Given the description of an element on the screen output the (x, y) to click on. 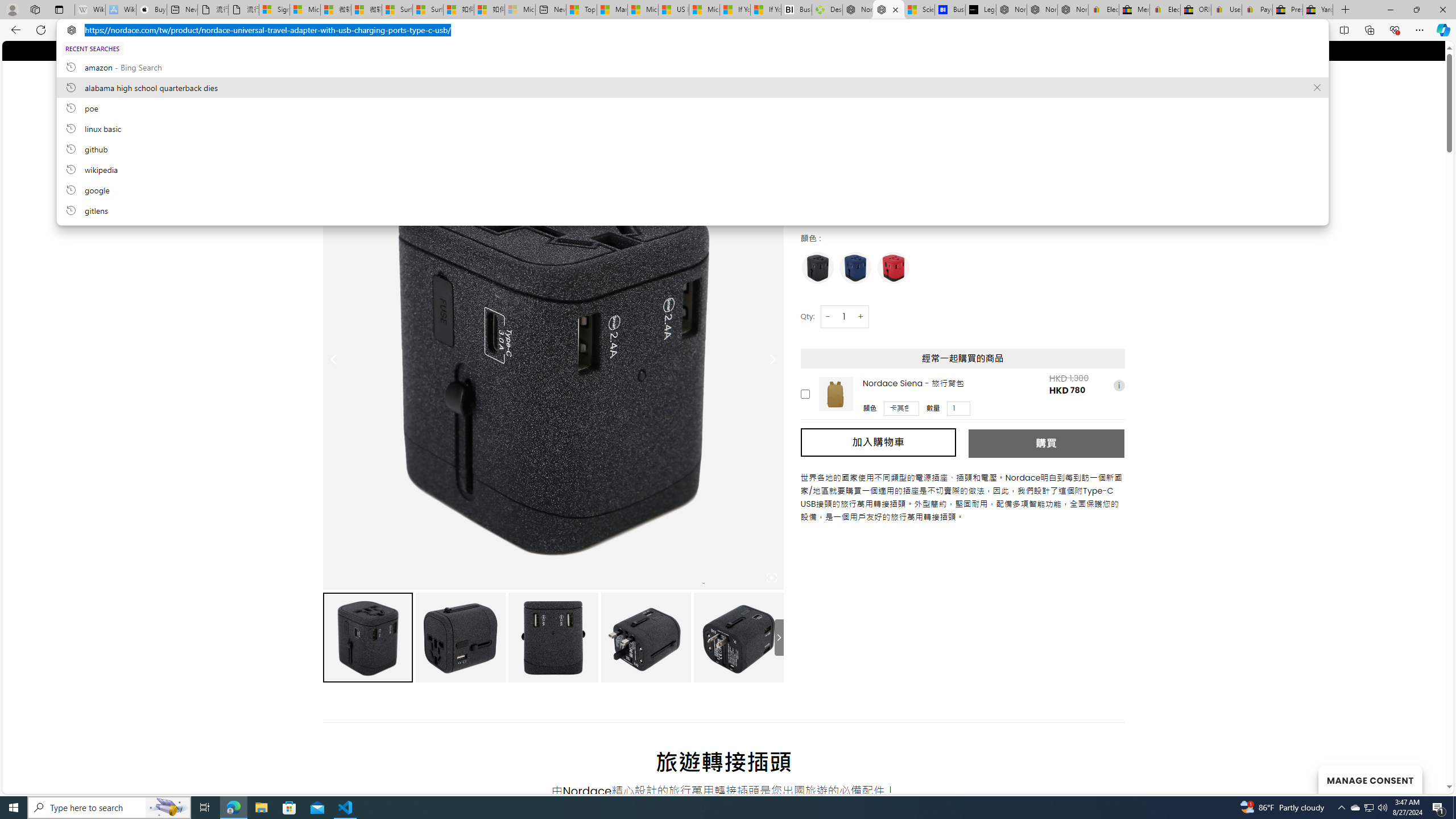
linux basic, recent searches from history (691, 127)
Class: iconic-woothumbs-fullscreen (771, 577)
Yard, Garden & Outdoor Living (1317, 9)
